Given the description of an element on the screen output the (x, y) to click on. 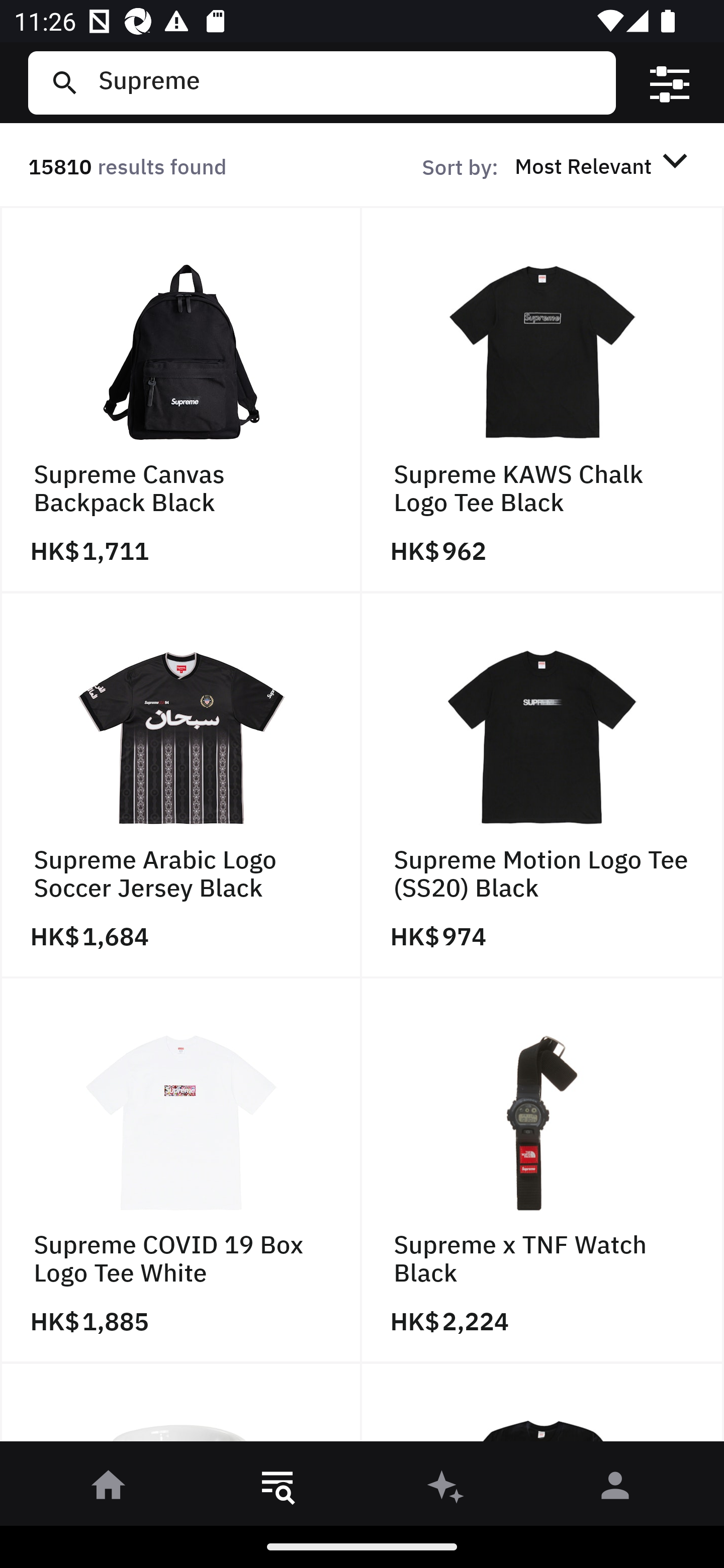
Supreme (349, 82)
 (669, 82)
Most Relevant  (604, 165)
Supreme Canvas Backpack Black HK$ 1,711 (181, 399)
Supreme KAWS Chalk Logo Tee Black HK$ 962 (543, 399)
Supreme Arabic Logo Soccer Jersey Black HK$ 1,684 (181, 785)
Supreme Motion Logo Tee (SS20) Black HK$ 974 (543, 785)
Supreme COVID 19 Box Logo Tee White HK$ 1,885 (181, 1171)
Supreme x TNF Watch Black HK$ 2,224 (543, 1171)
󰋜 (108, 1488)
󱎸 (277, 1488)
󰫢 (446, 1488)
󰀄 (615, 1488)
